Given the description of an element on the screen output the (x, y) to click on. 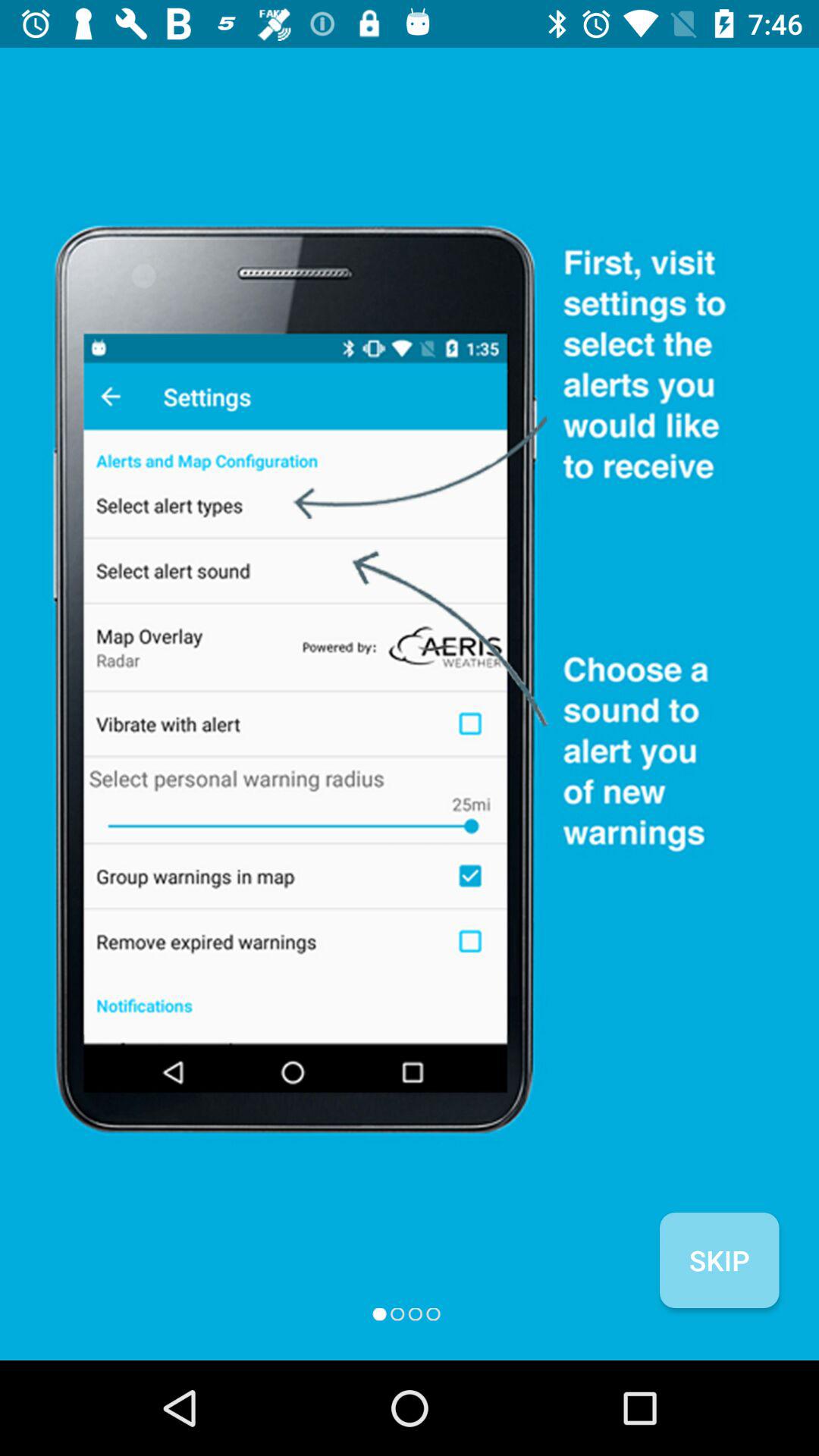
tap the skip (719, 1260)
